Given the description of an element on the screen output the (x, y) to click on. 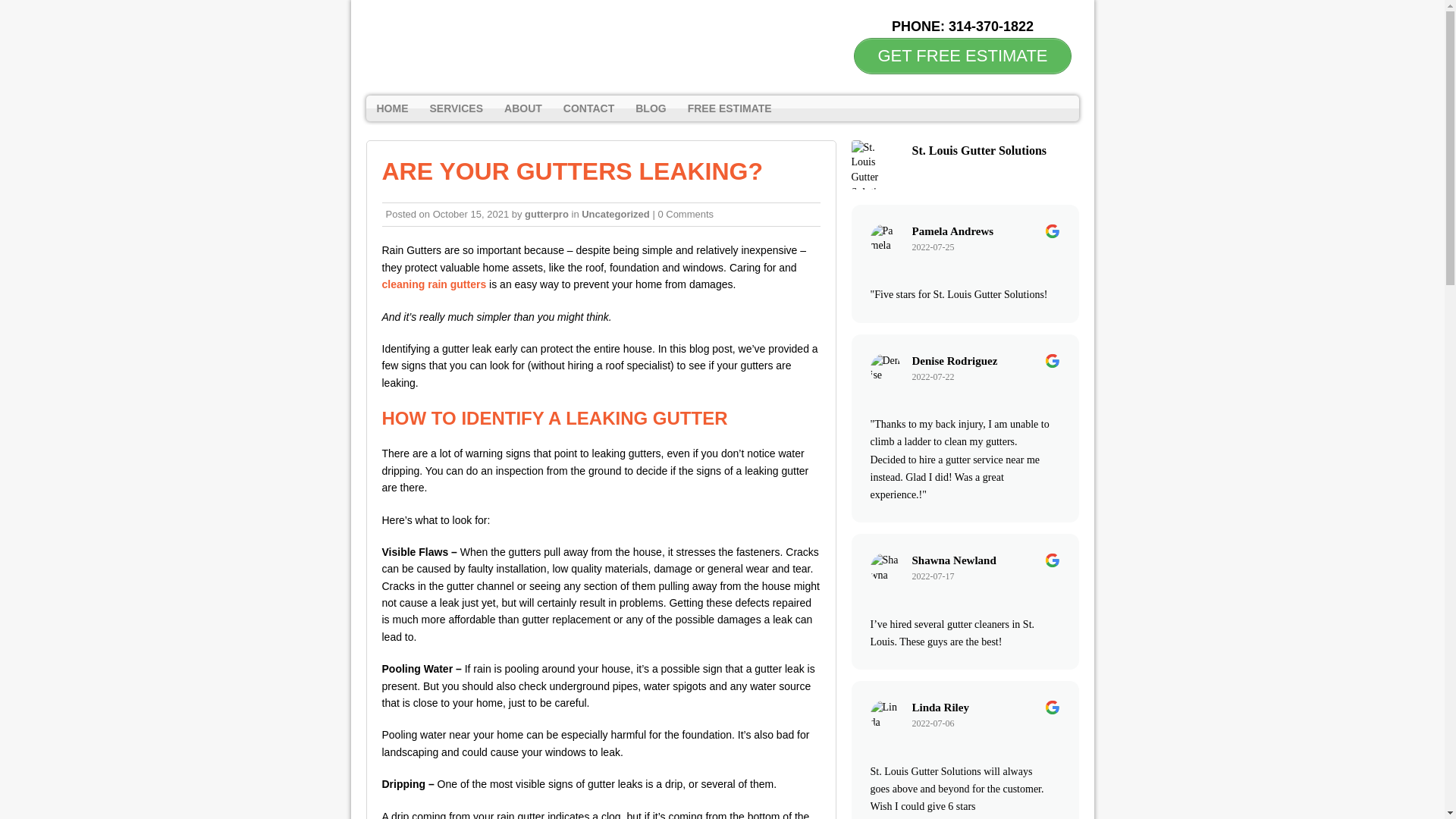
cleaning rain gutters (433, 284)
gutterpro (546, 214)
Uncategorized (614, 214)
CONTACT (588, 108)
GET FREE ESTIMATE (961, 55)
HOME (392, 108)
314-370-1822 (991, 26)
SERVICES (456, 108)
BLOG (650, 108)
FREE ESTIMATE (730, 108)
ABOUT (523, 108)
St. Louis Gutter Solutions (365, 13)
